Given the description of an element on the screen output the (x, y) to click on. 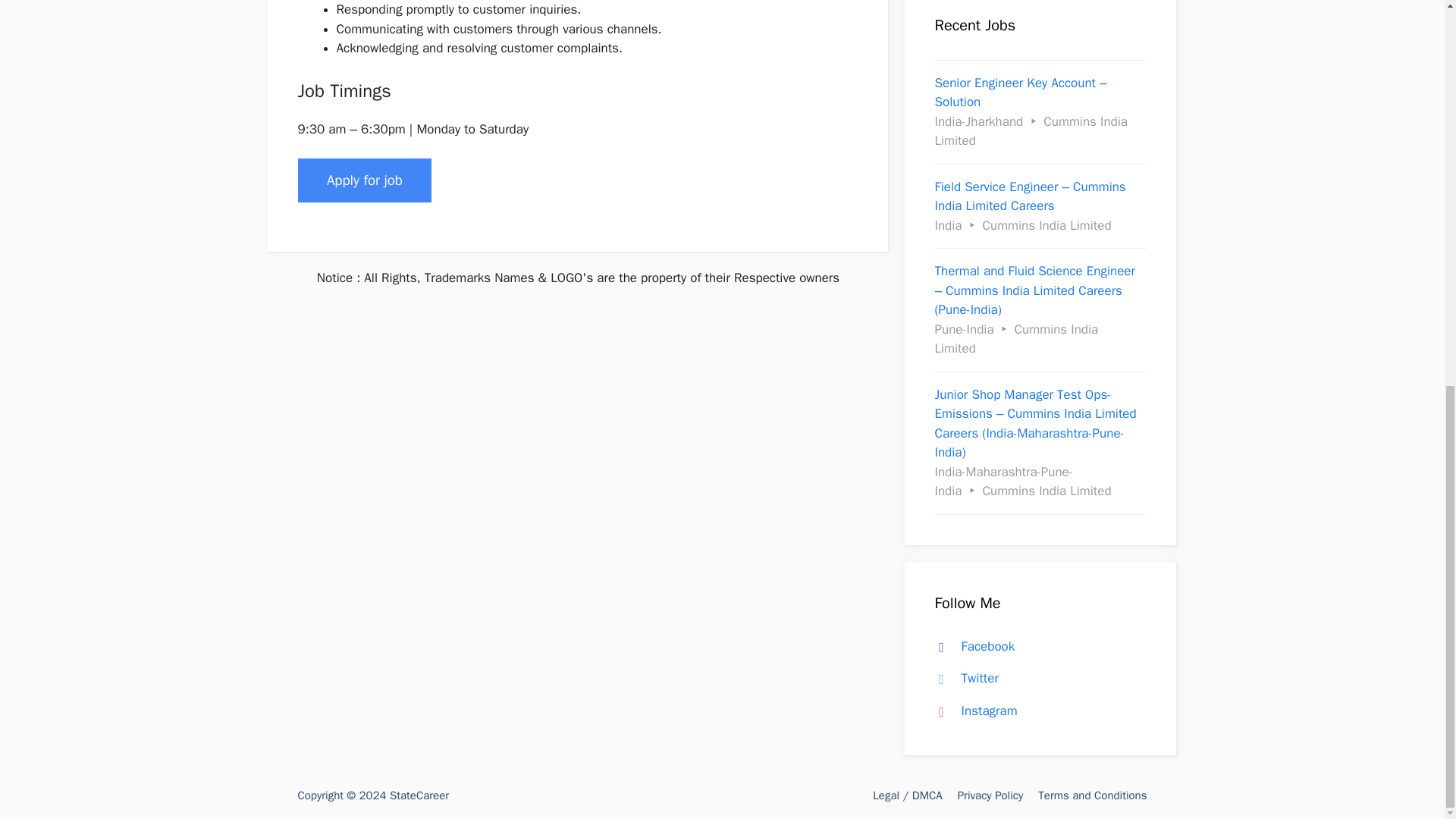
Facebook (971, 646)
Privacy Policy (990, 795)
Instagram (972, 710)
Facebook (971, 646)
Instagram (972, 710)
Twitter (962, 678)
Twitter (962, 678)
Apply for job (363, 180)
Terms and Conditions (1092, 795)
